Given the description of an element on the screen output the (x, y) to click on. 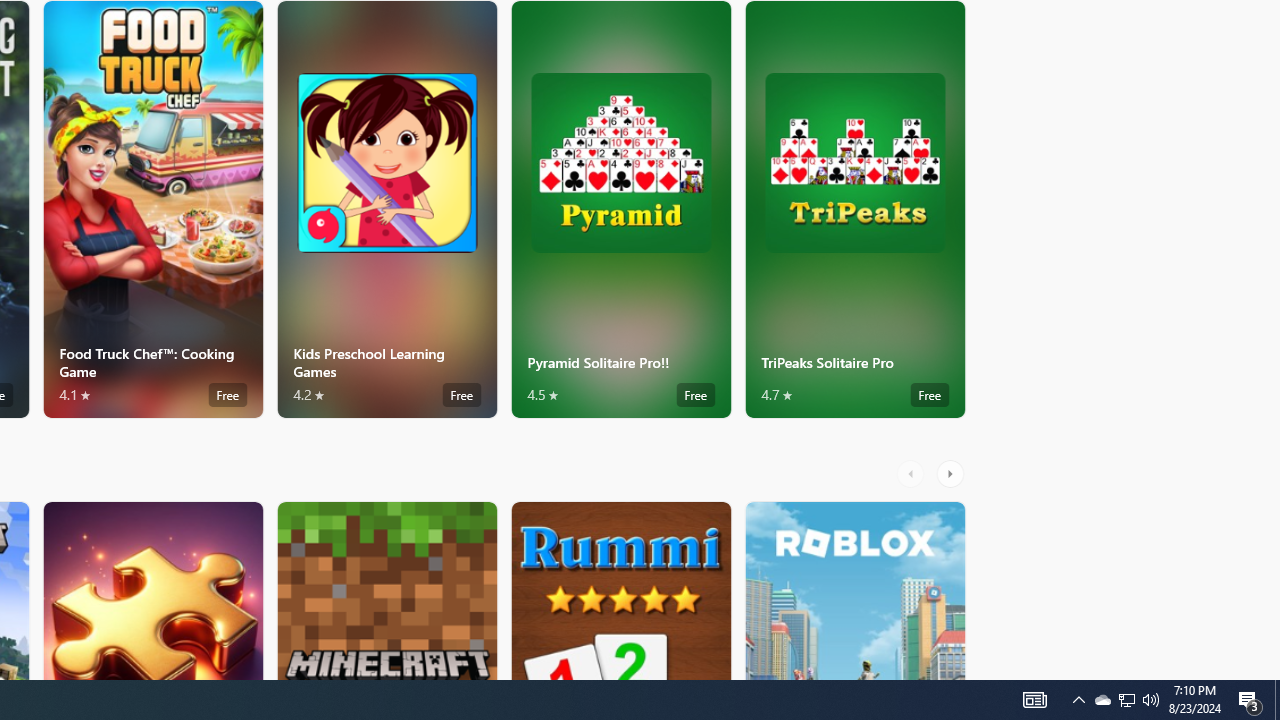
Roblox. Average rating of 4.5 out of five stars. Free   (854, 590)
AutomationID: LeftScrollButton (913, 473)
Rummi. Average rating of 4.6 out of five stars. Free   (620, 590)
AutomationID: RightScrollButton (952, 473)
